Given the description of an element on the screen output the (x, y) to click on. 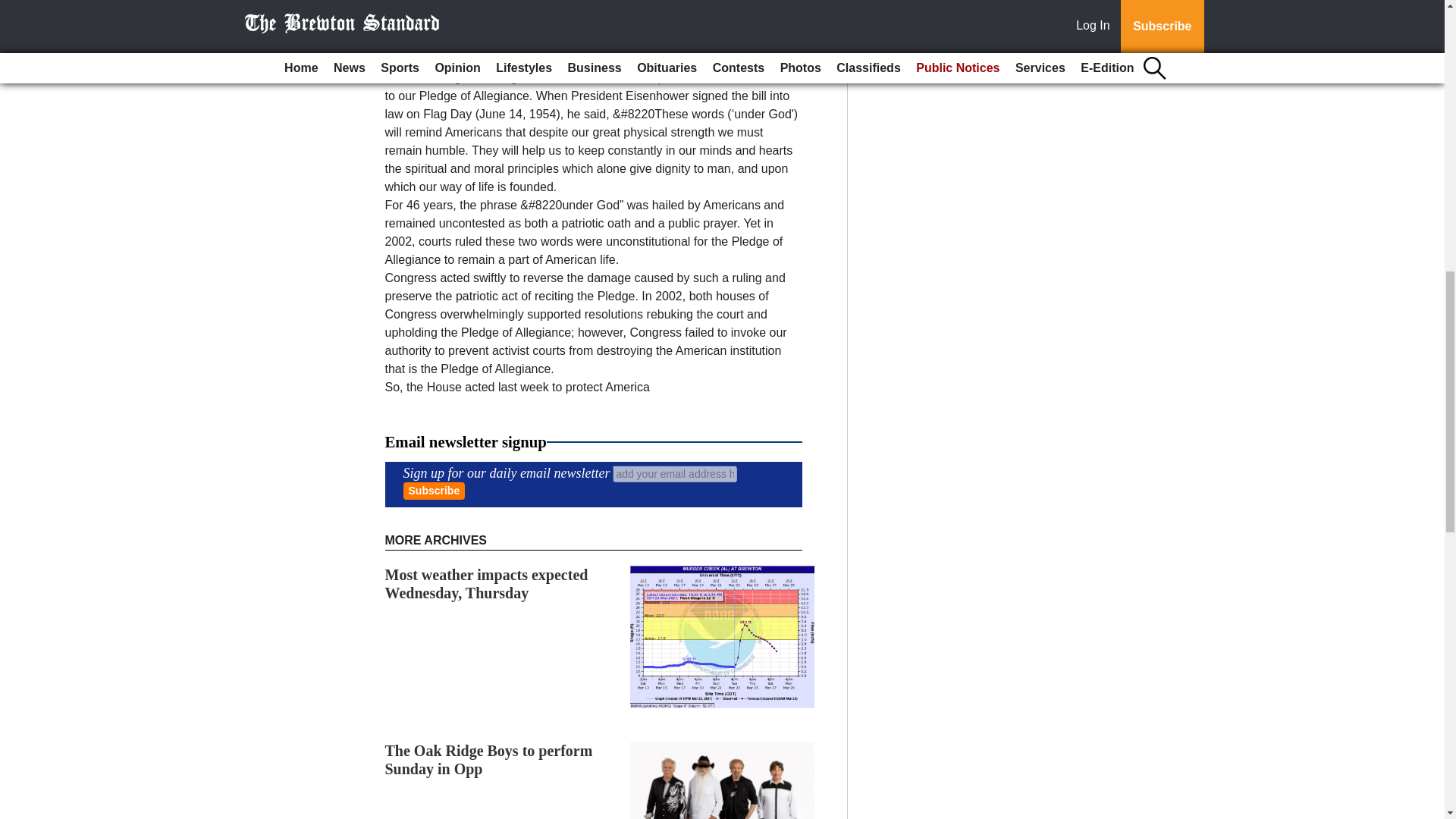
Most weather impacts expected Wednesday, Thursday (486, 583)
The Oak Ridge Boys to perform Sunday in Opp (488, 759)
Subscribe (434, 490)
The Oak Ridge Boys to perform Sunday in Opp (488, 759)
Subscribe (434, 490)
Most weather impacts expected Wednesday, Thursday (486, 583)
